Given the description of an element on the screen output the (x, y) to click on. 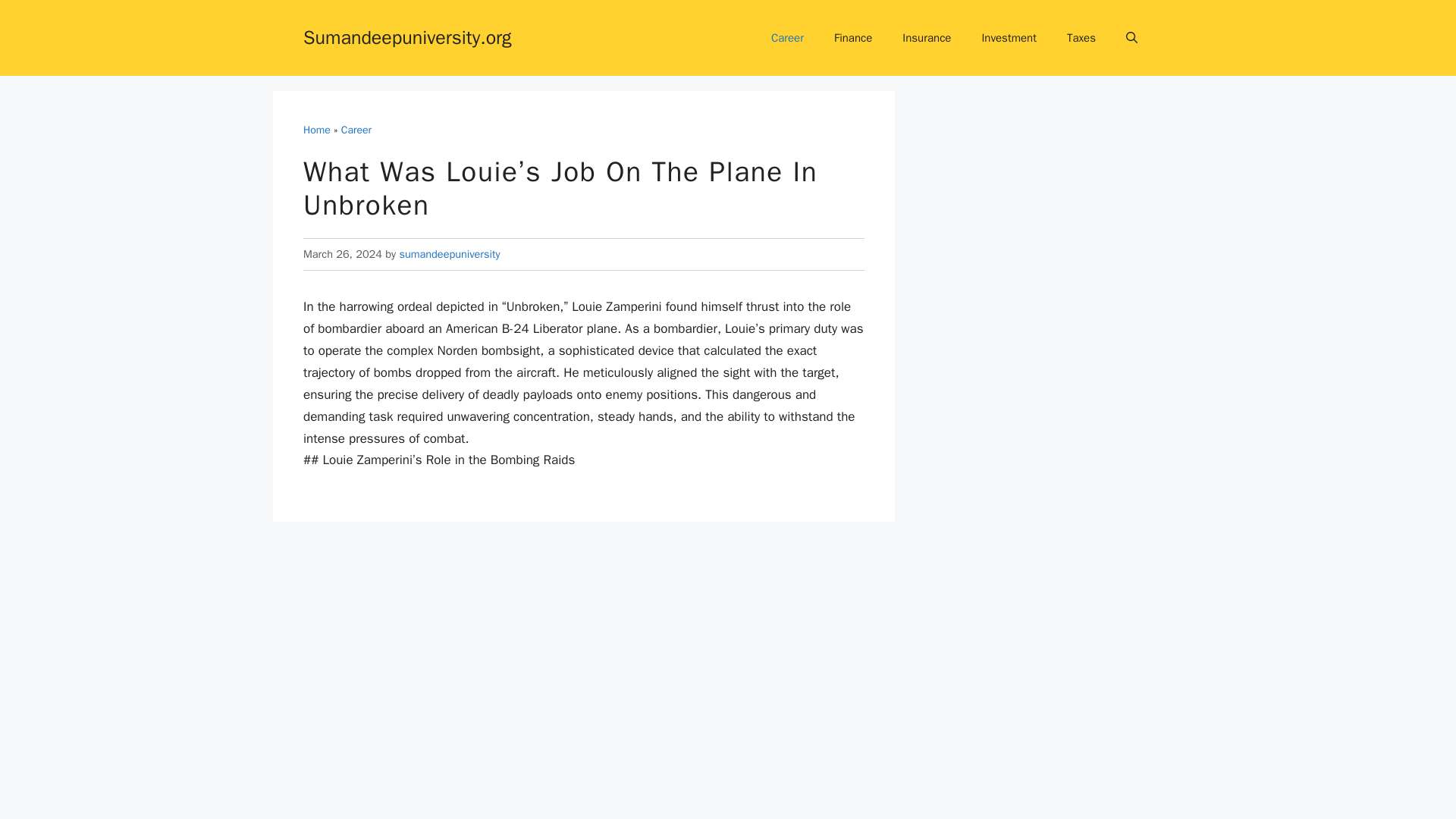
Investment (1008, 37)
sumandeepuniversity (448, 254)
Insurance (926, 37)
Career (786, 37)
Home (316, 129)
Taxes (1080, 37)
Finance (852, 37)
View all posts by sumandeepuniversity (448, 254)
Career (355, 129)
Sumandeepuniversity.org (407, 37)
